Given the description of an element on the screen output the (x, y) to click on. 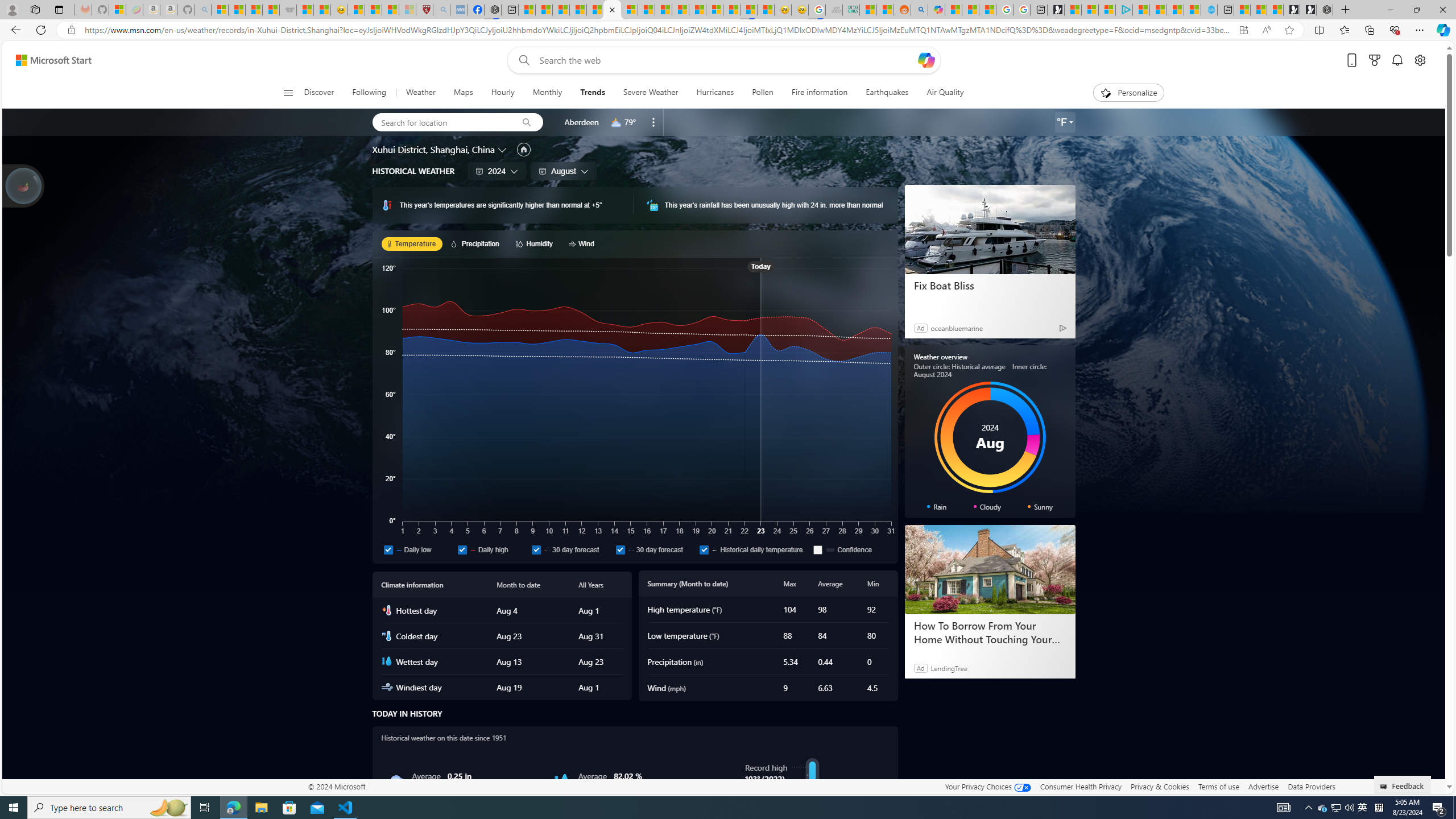
Air Quality (940, 92)
Monthly (547, 92)
30 day forecast (655, 549)
Earthquakes (887, 92)
Fix Boat Bliss (989, 229)
